Given the description of an element on the screen output the (x, y) to click on. 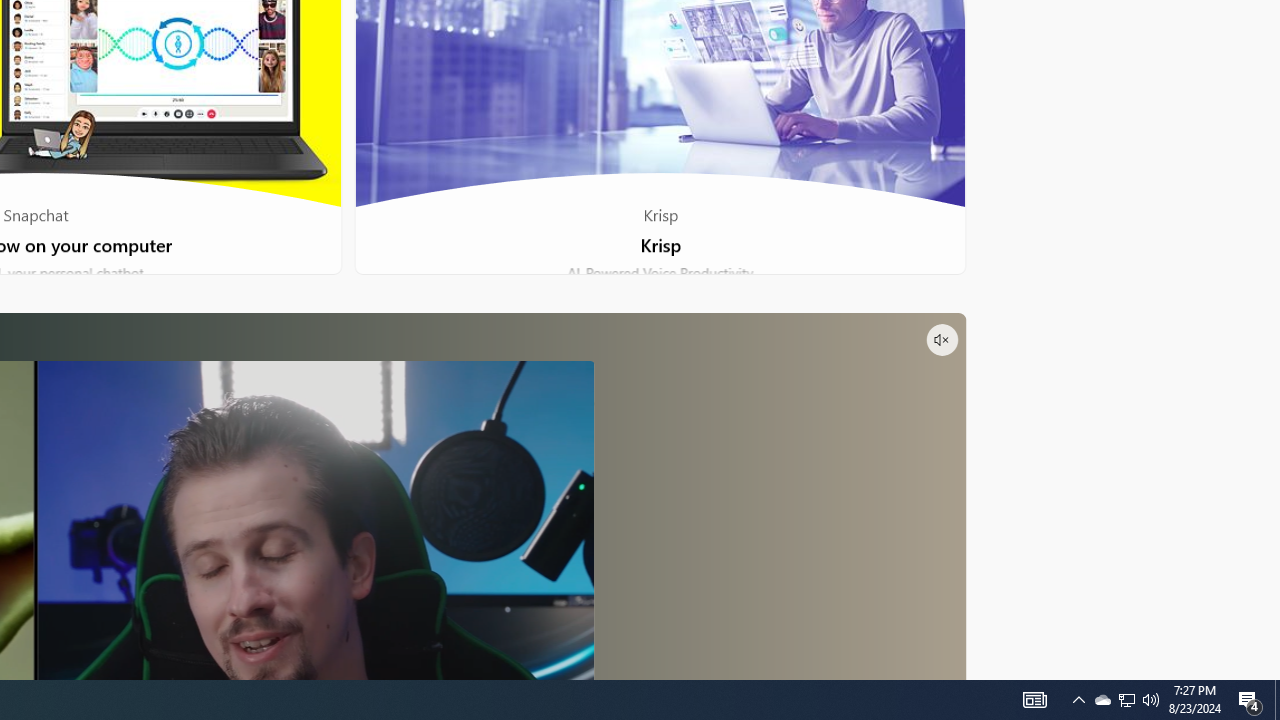
Unmute (941, 339)
